Given the description of an element on the screen output the (x, y) to click on. 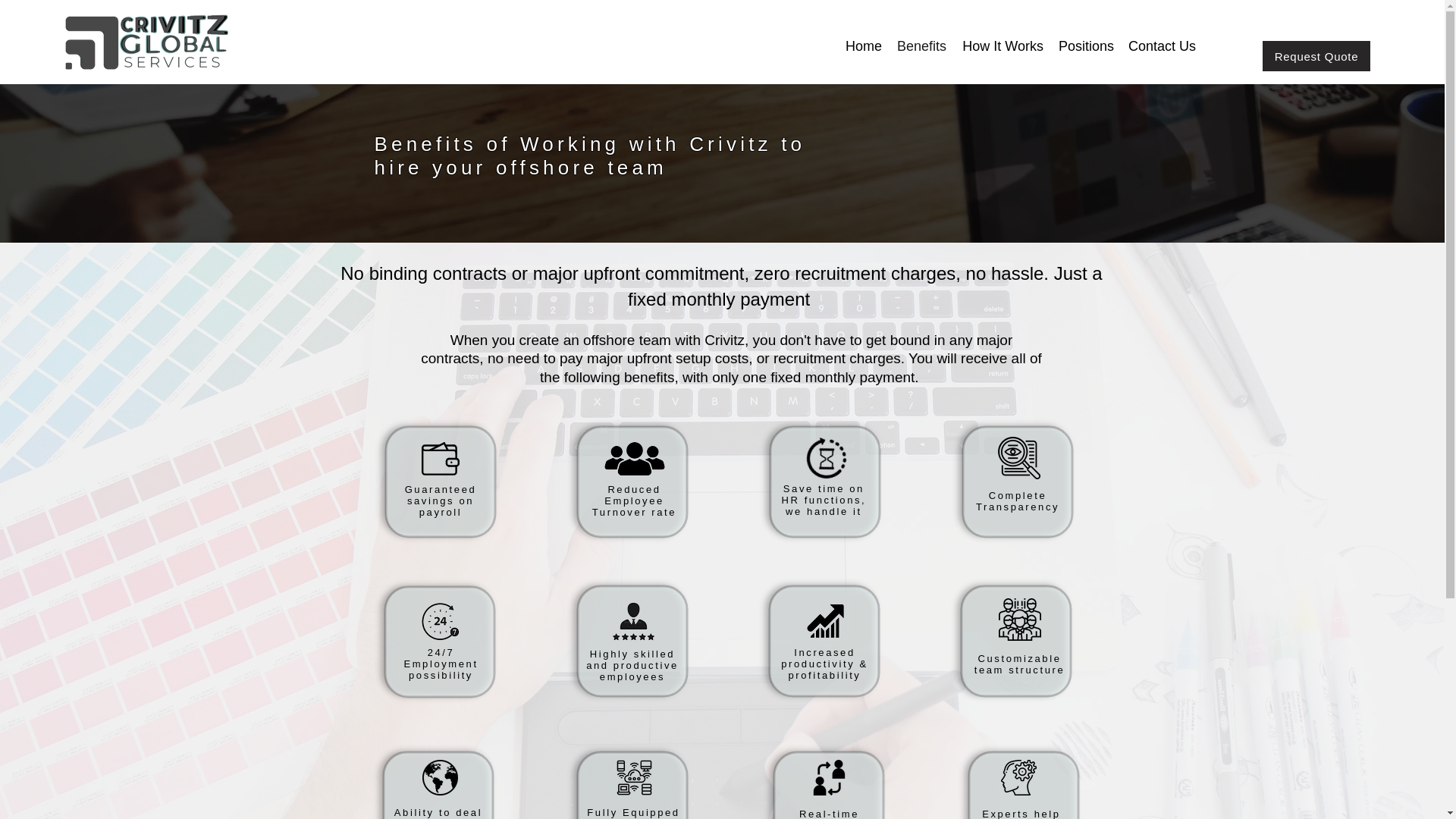
Home (863, 46)
How It Works (1002, 46)
Benefits (921, 46)
Request Quote (1316, 55)
Positions (1086, 46)
Contact Us (1162, 46)
